Given the description of an element on the screen output the (x, y) to click on. 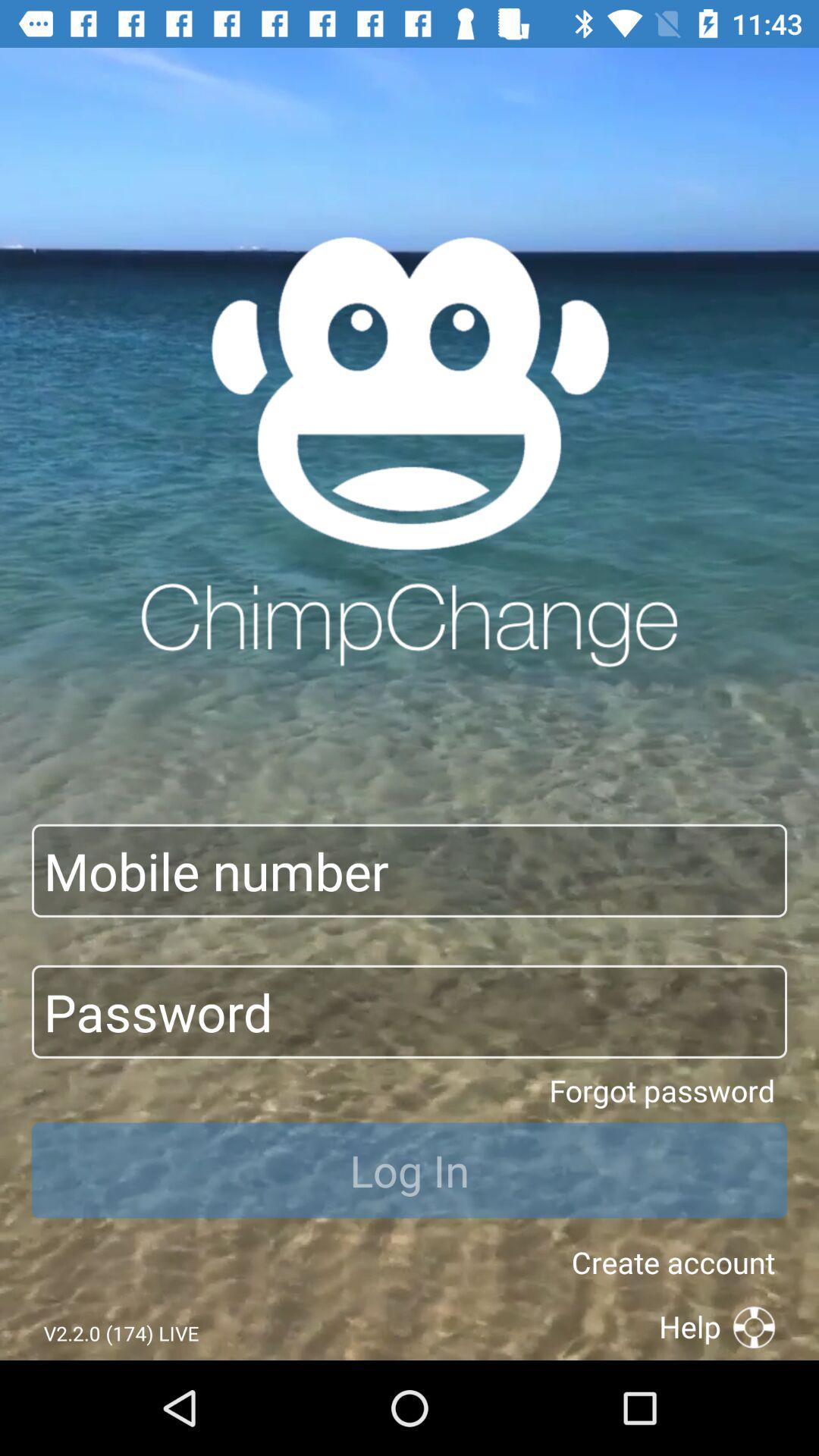
input field (409, 870)
